Given the description of an element on the screen output the (x, y) to click on. 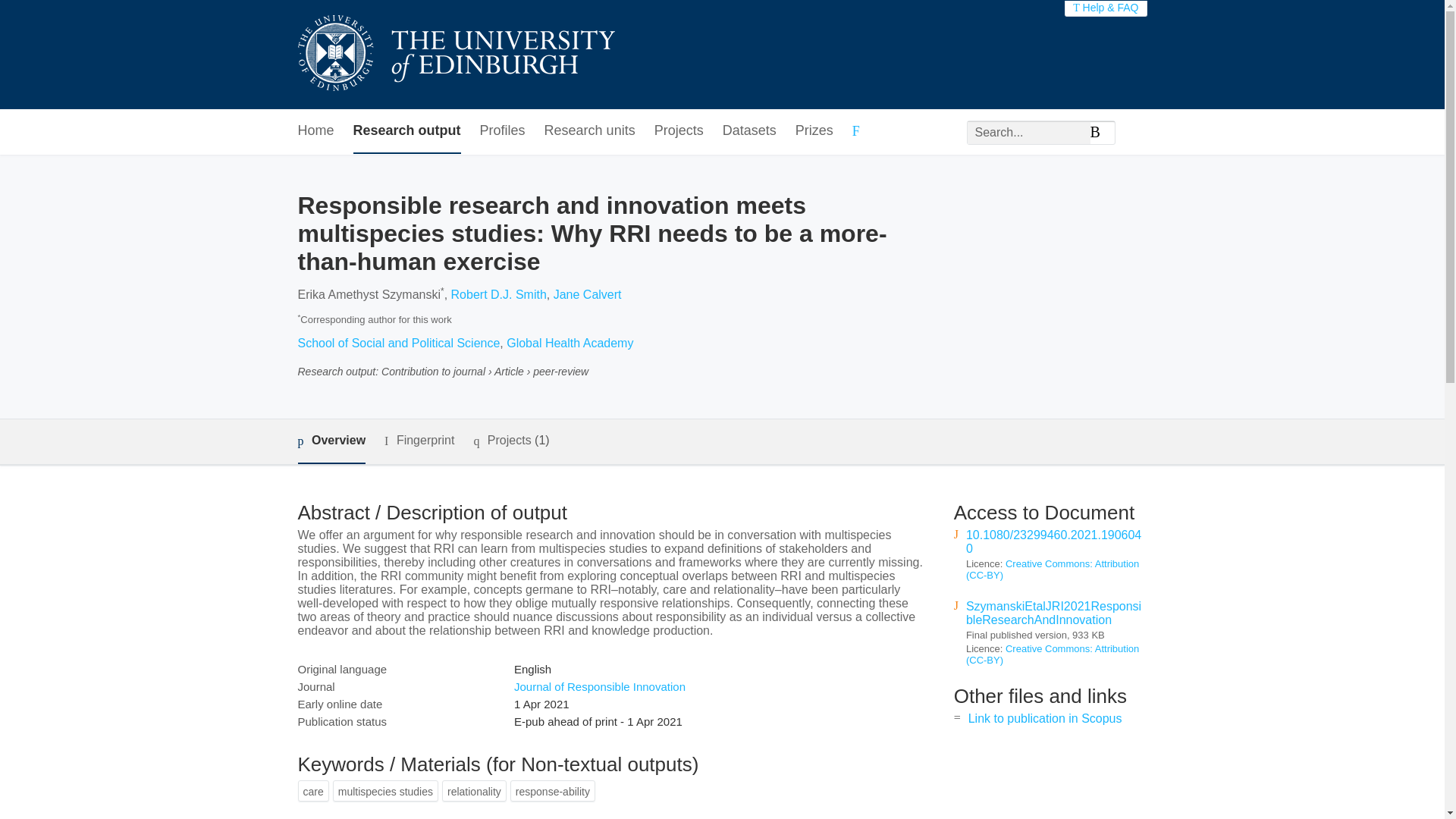
School of Social and Political Science (398, 342)
Journal of Responsible Innovation (599, 686)
Research output (407, 130)
Robert D.J. Smith (499, 294)
Overview (331, 441)
Projects (678, 130)
Jane Calvert (587, 294)
SzymanskiEtalJRI2021ResponsibleResearchAndInnovation (1053, 612)
Datasets (749, 130)
